Given the description of an element on the screen output the (x, y) to click on. 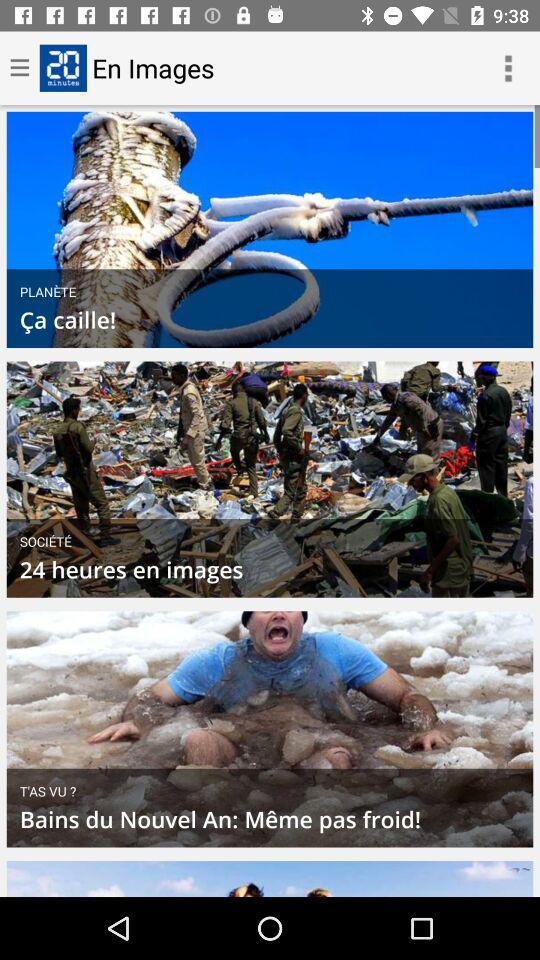
press the app to the right of the en images item (508, 67)
